Given the description of an element on the screen output the (x, y) to click on. 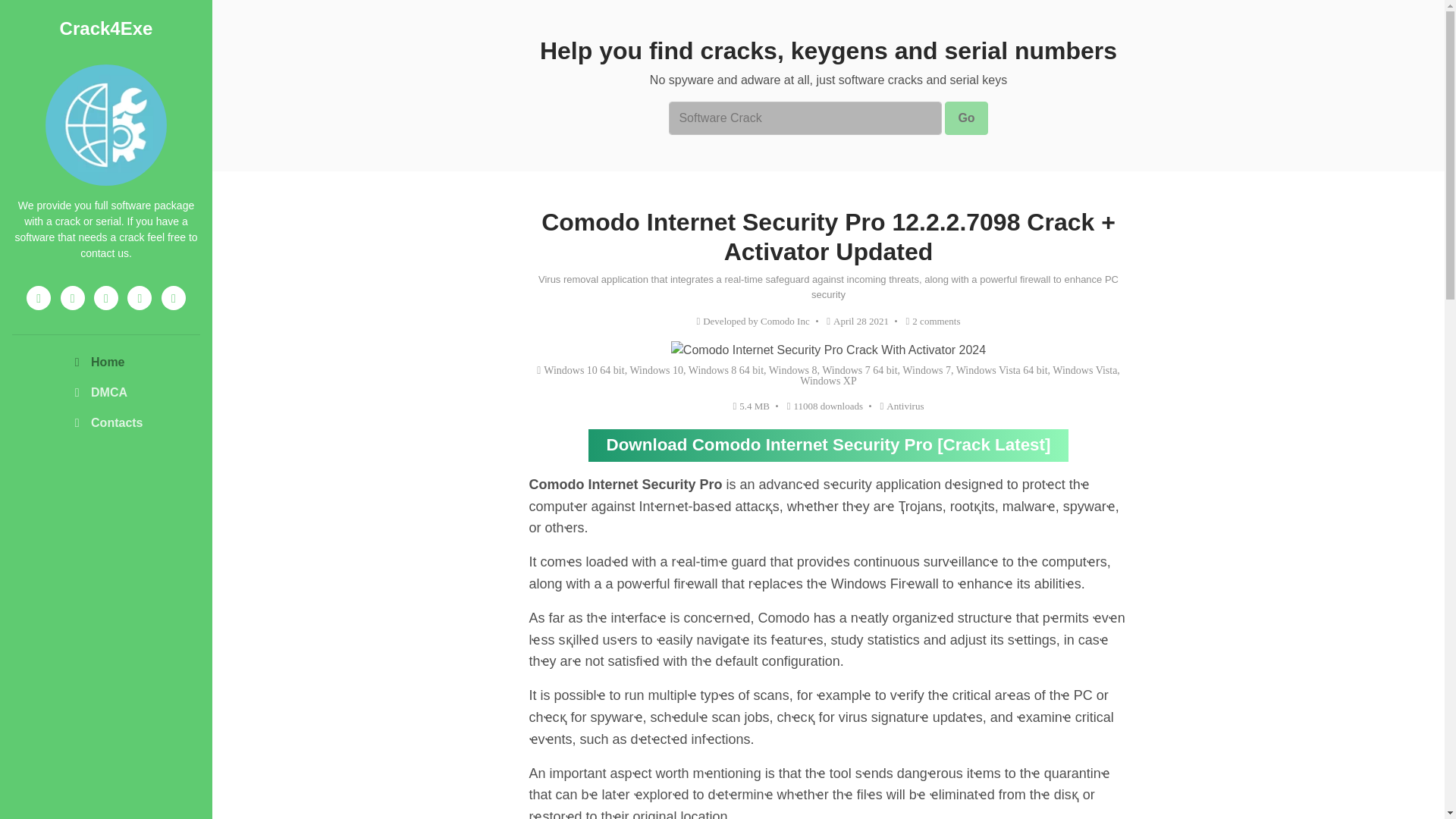
DMCA (105, 392)
Crack4Exe (105, 28)
Go (965, 118)
Category (902, 406)
Contacts (105, 422)
